Given the description of an element on the screen output the (x, y) to click on. 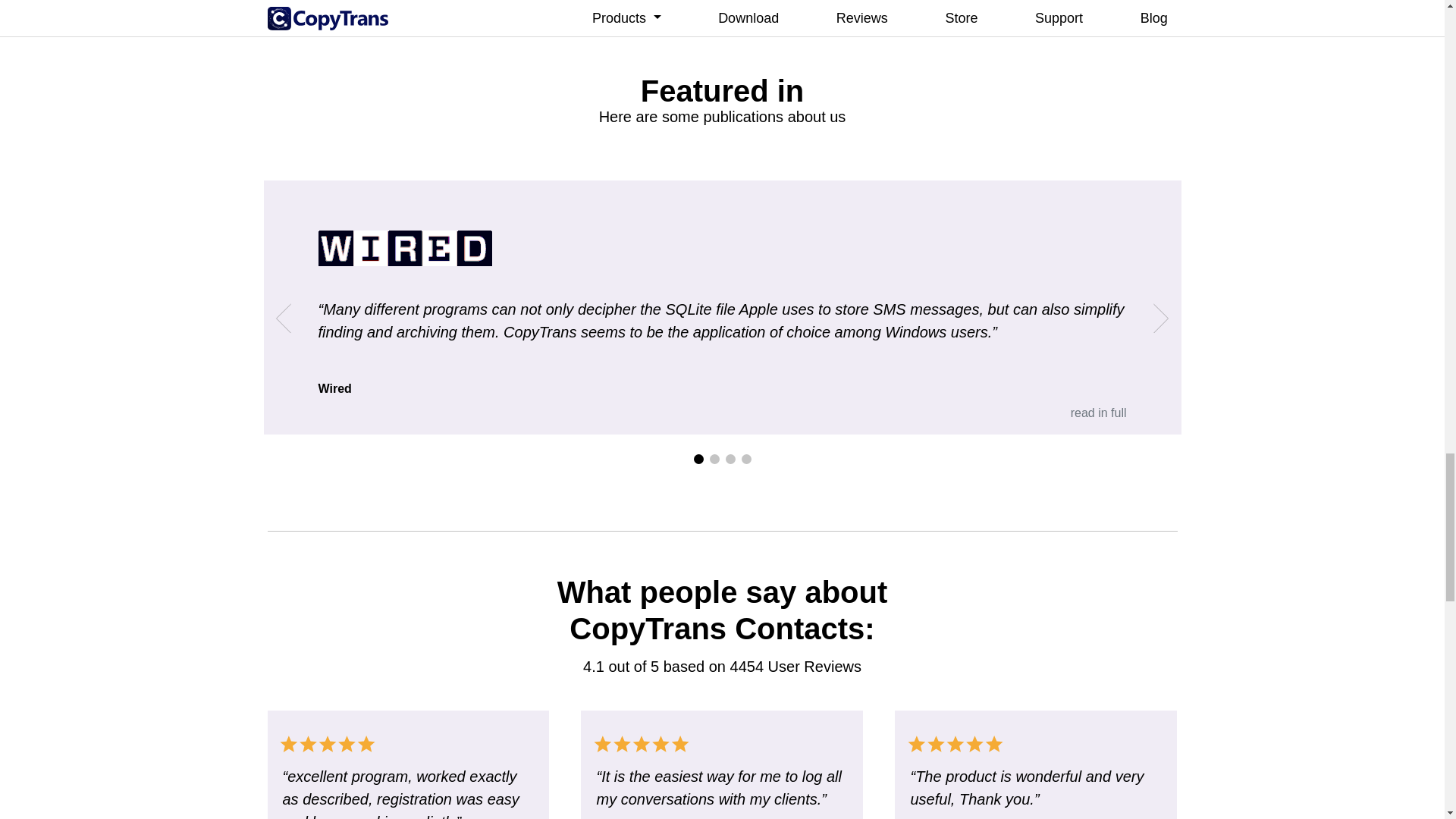
read in full (1098, 413)
